Given the description of an element on the screen output the (x, y) to click on. 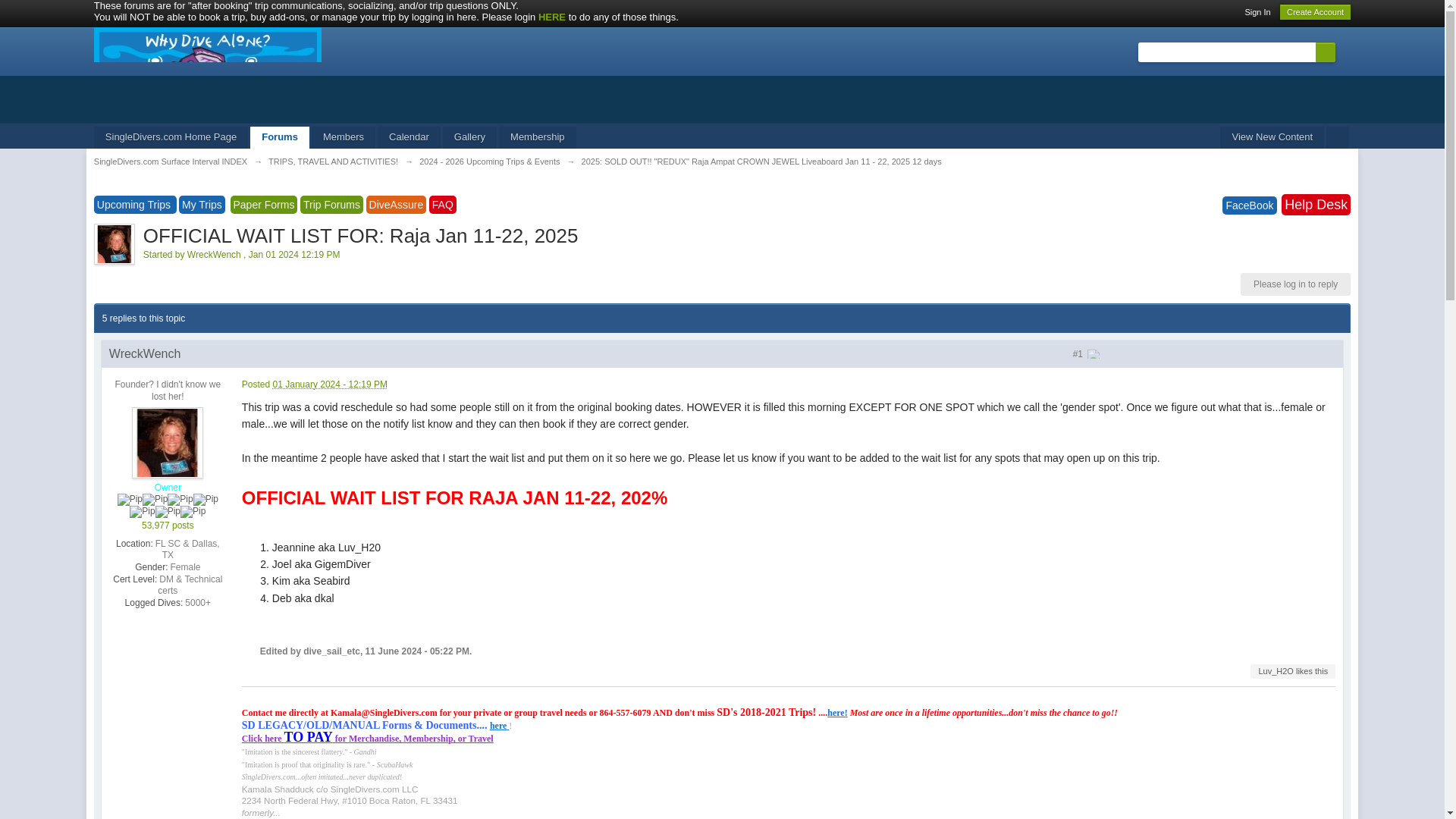
Search (1325, 52)
TRIPS, TRAVEL AND ACTIVITIES! (332, 161)
Gallery (469, 137)
Advanced (1344, 51)
Help Desk (1316, 204)
DiveAssure (396, 204)
Paper Forms (264, 204)
View New Content (1271, 137)
My Trips (202, 204)
